Given the description of an element on the screen output the (x, y) to click on. 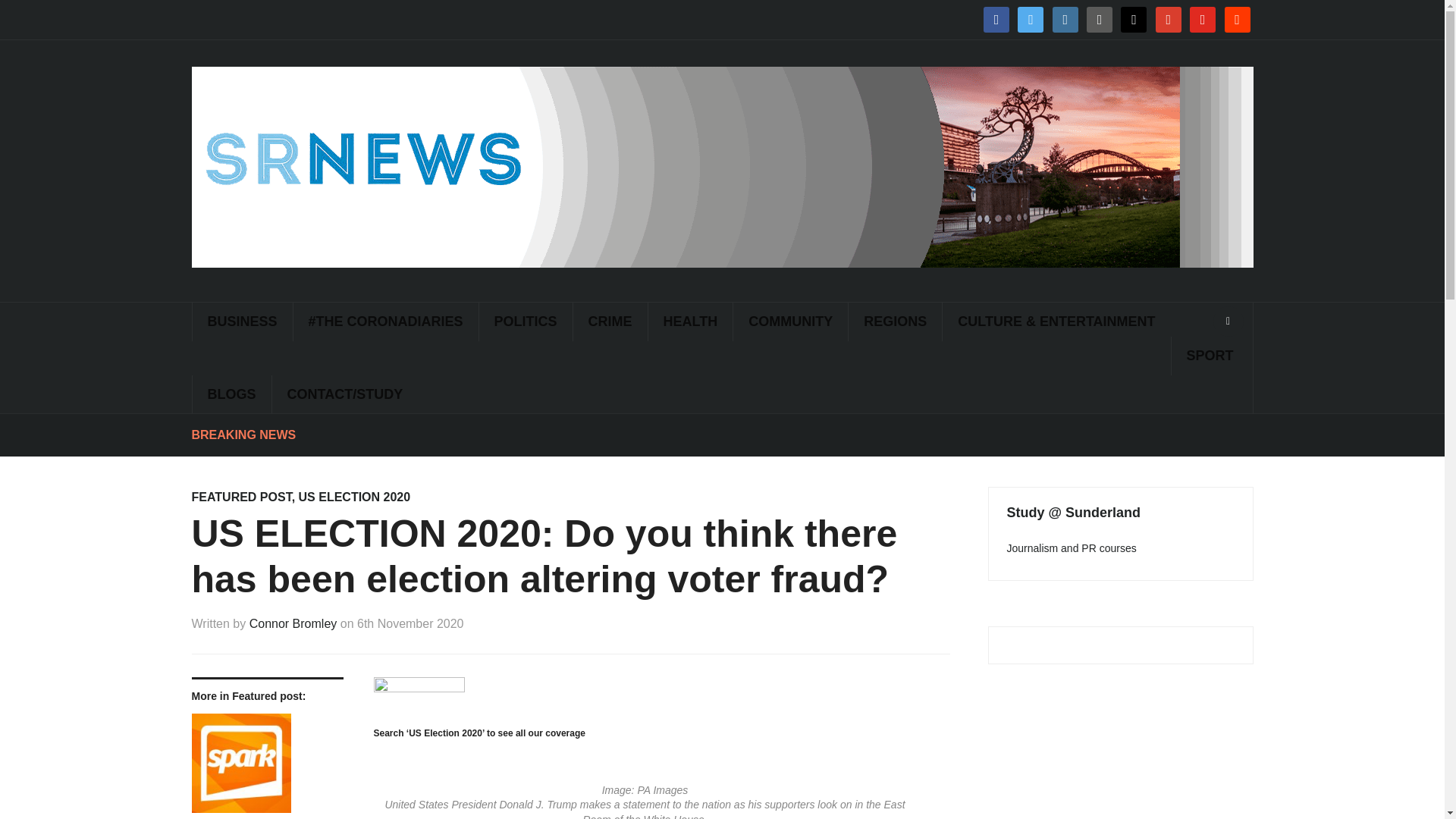
vine (1099, 18)
CRIME (609, 321)
instagram (1065, 18)
Friend me on Facebook (996, 18)
youtube (1202, 18)
facebook (996, 18)
Instagram (1065, 18)
soundcloud (1236, 18)
BUSINESS (241, 321)
HEALTH (690, 321)
